Given the description of an element on the screen output the (x, y) to click on. 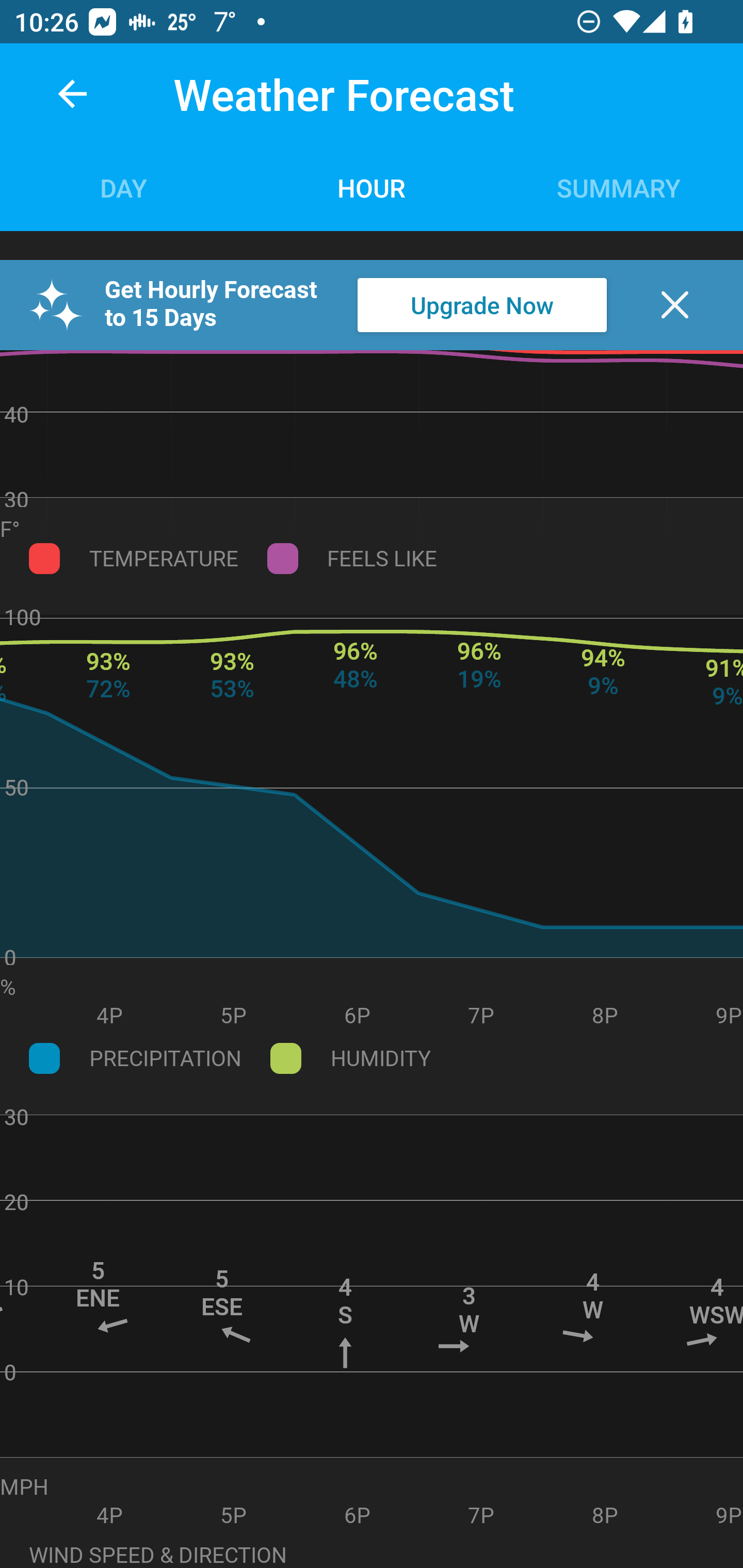
back (71, 93)
Day Tab DAY (123, 187)
Summary Tab SUMMARY (619, 187)
Upgrade Now (482, 304)
